Given the description of an element on the screen output the (x, y) to click on. 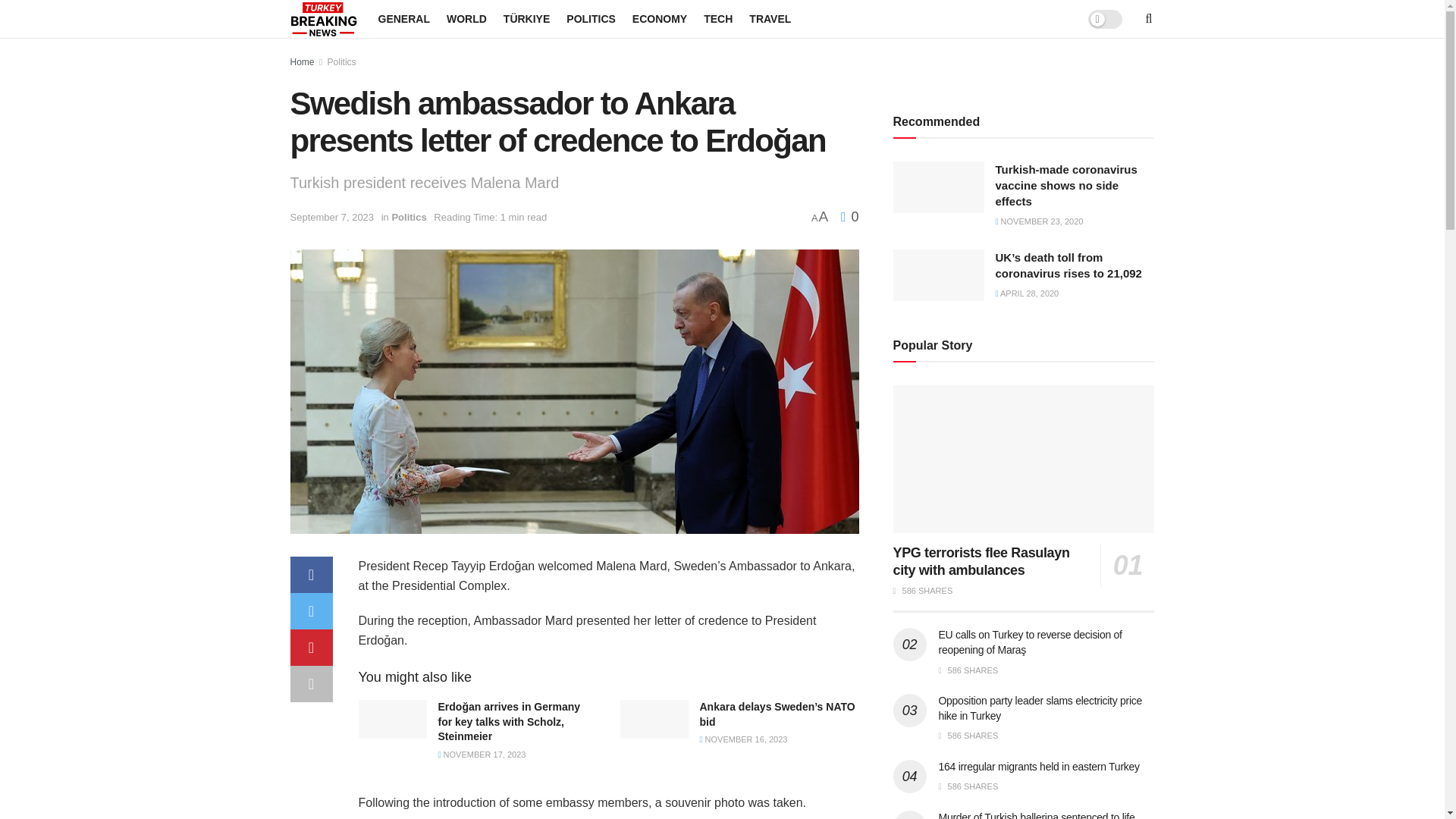
Politics (408, 216)
TECH (717, 18)
0 (850, 216)
NOVEMBER 17, 2023 (481, 754)
TRAVEL (769, 18)
GENERAL (403, 18)
Politics (341, 61)
Home (301, 61)
POLITICS (590, 18)
September 7, 2023 (331, 216)
ECONOMY (659, 18)
WORLD (466, 18)
